Given the description of an element on the screen output the (x, y) to click on. 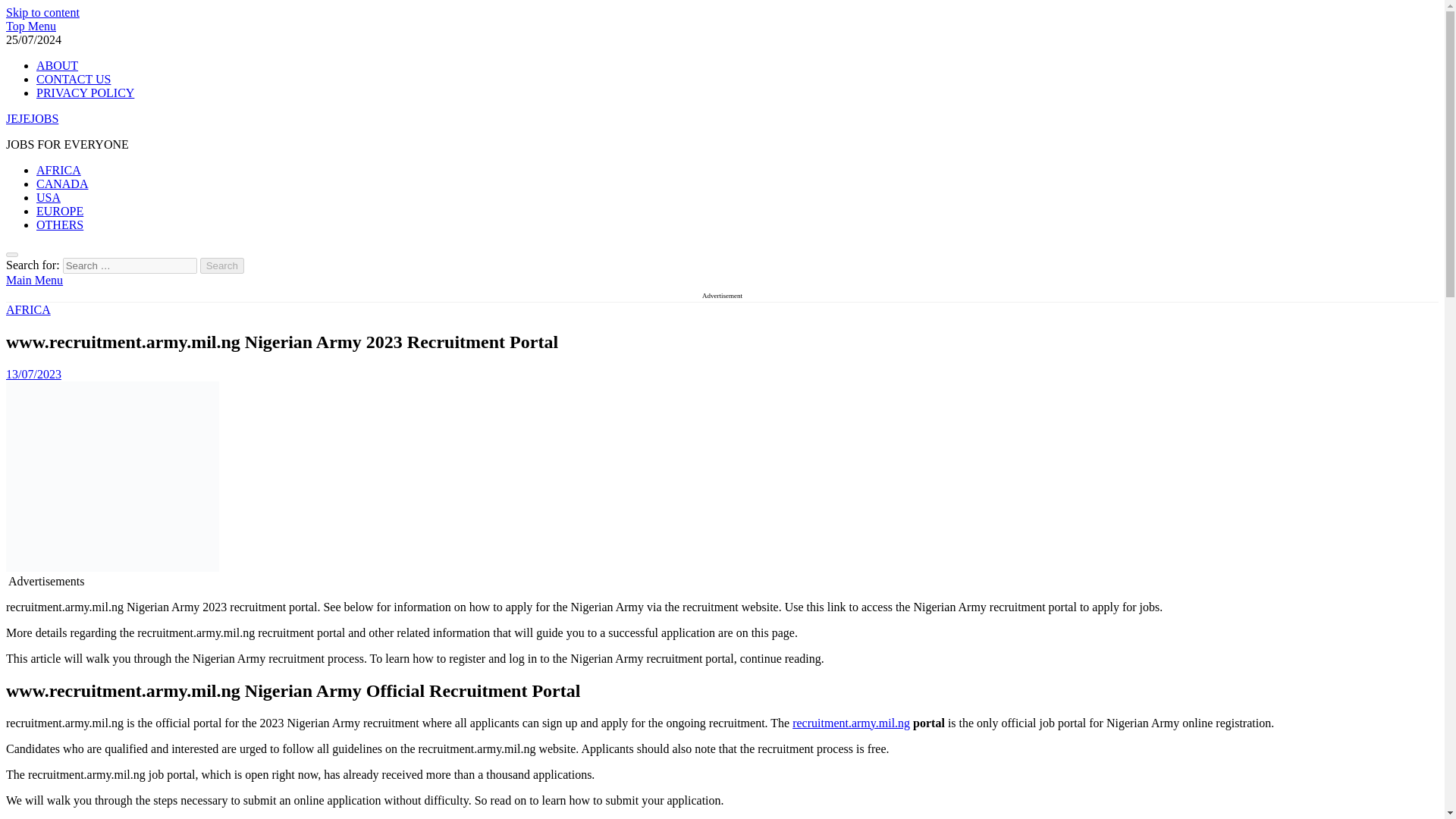
ABOUT (57, 65)
Search (222, 265)
CONTACT US (73, 78)
AFRICA (27, 309)
recruitment.army.mil.ng (851, 722)
PRIVACY POLICY (84, 92)
CANADA (61, 183)
Main Menu (33, 279)
OTHERS (59, 224)
EUROPE (59, 210)
Skip to content (42, 11)
Search (222, 265)
AFRICA (58, 169)
USA (48, 196)
Top Menu (30, 25)
